Given the description of an element on the screen output the (x, y) to click on. 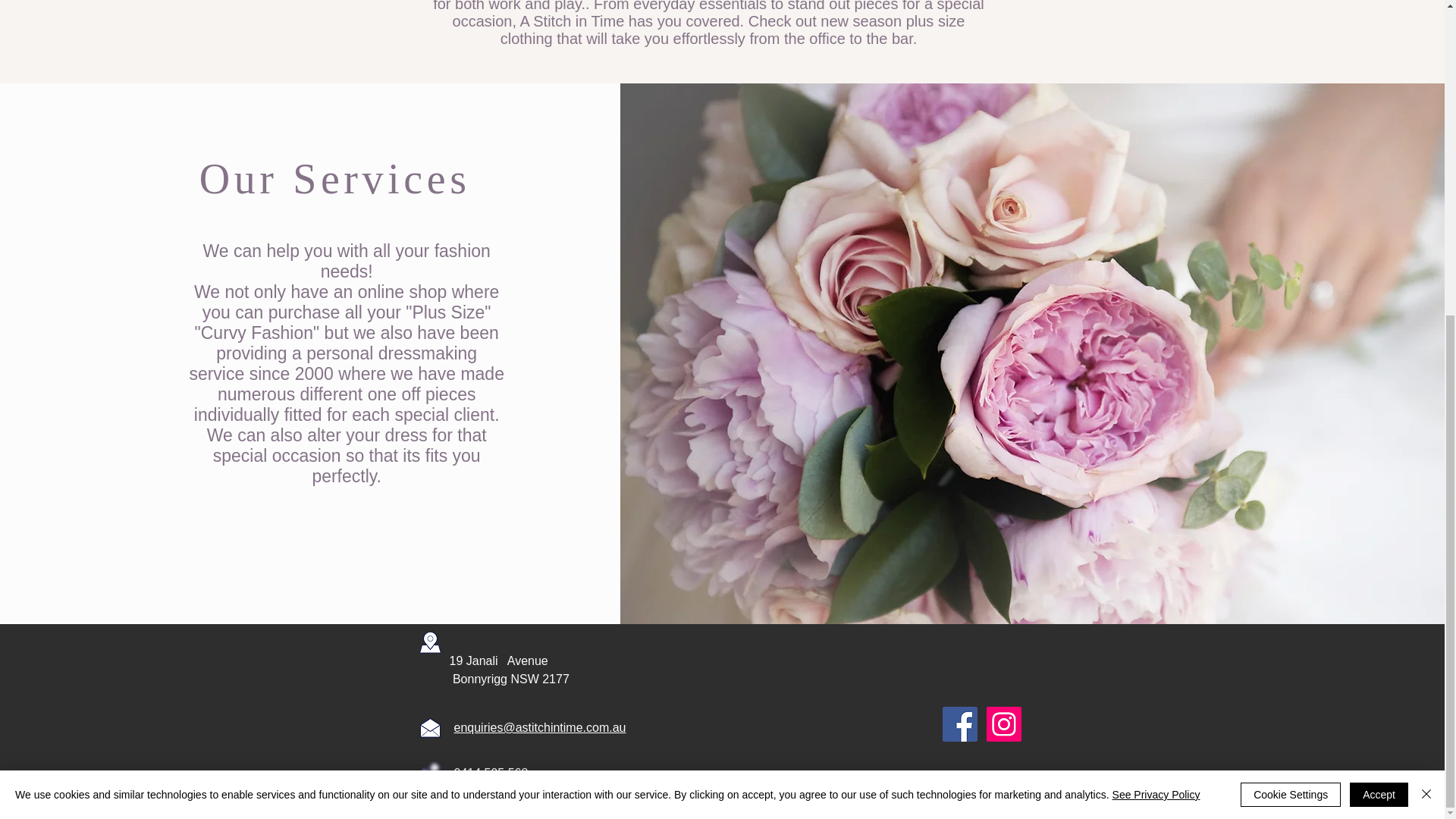
0414 595 568 (489, 772)
Accept (1378, 288)
Cookie Settings (1290, 288)
See Privacy Policy (1155, 287)
